Given the description of an element on the screen output the (x, y) to click on. 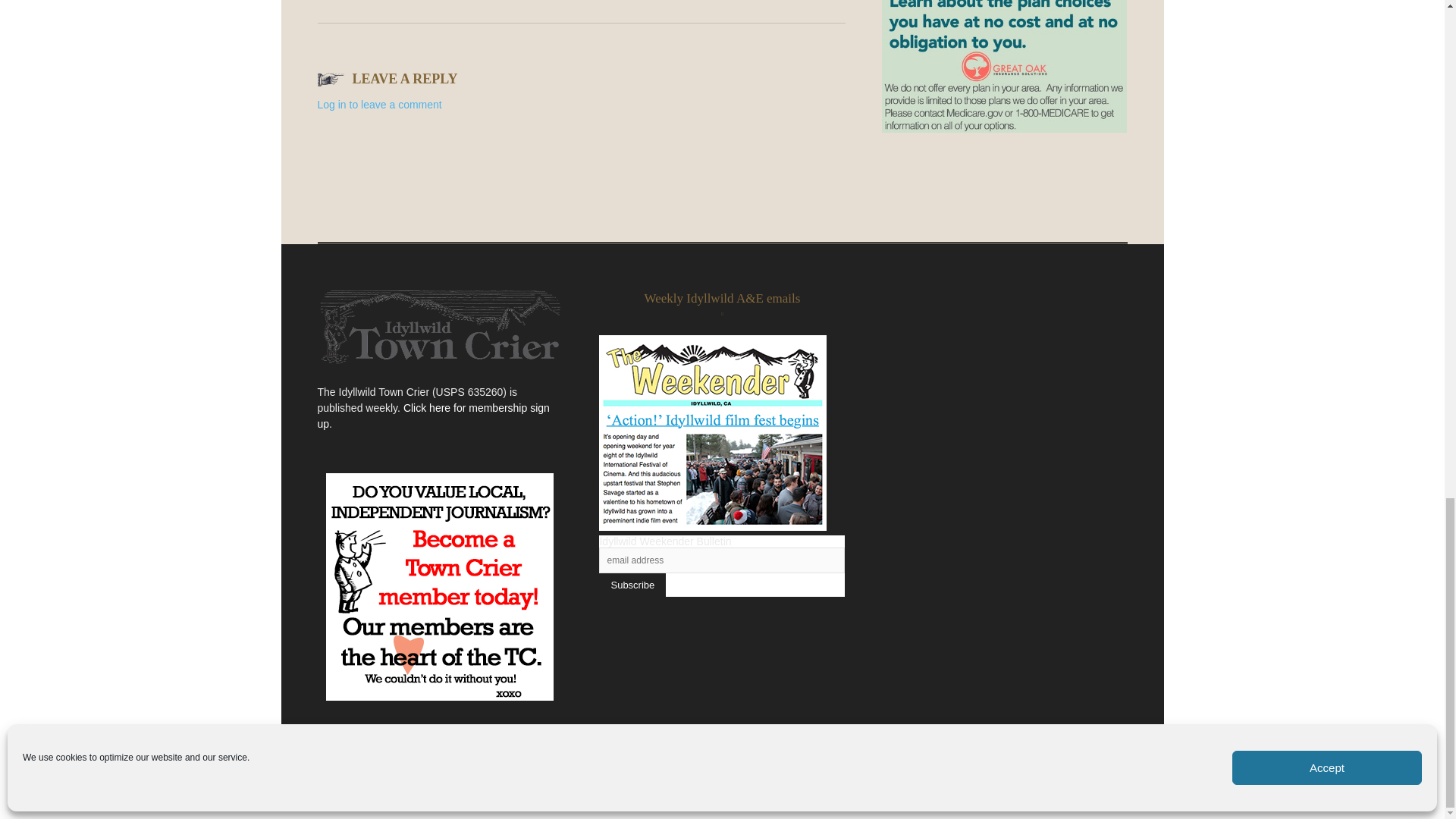
Subscribe (631, 585)
